Given the description of an element on the screen output the (x, y) to click on. 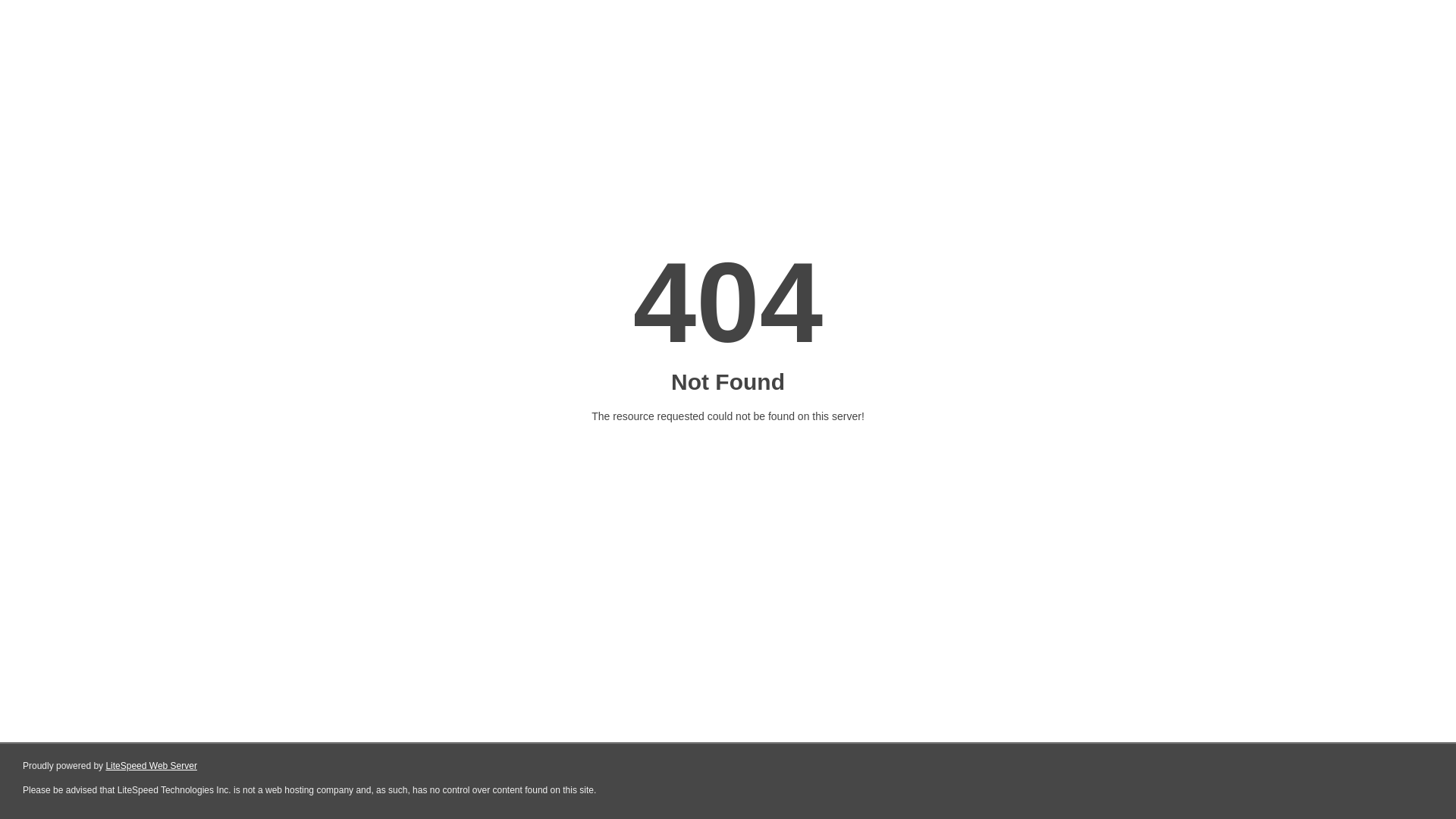
LiteSpeed Web Server Element type: text (151, 765)
